Given the description of an element on the screen output the (x, y) to click on. 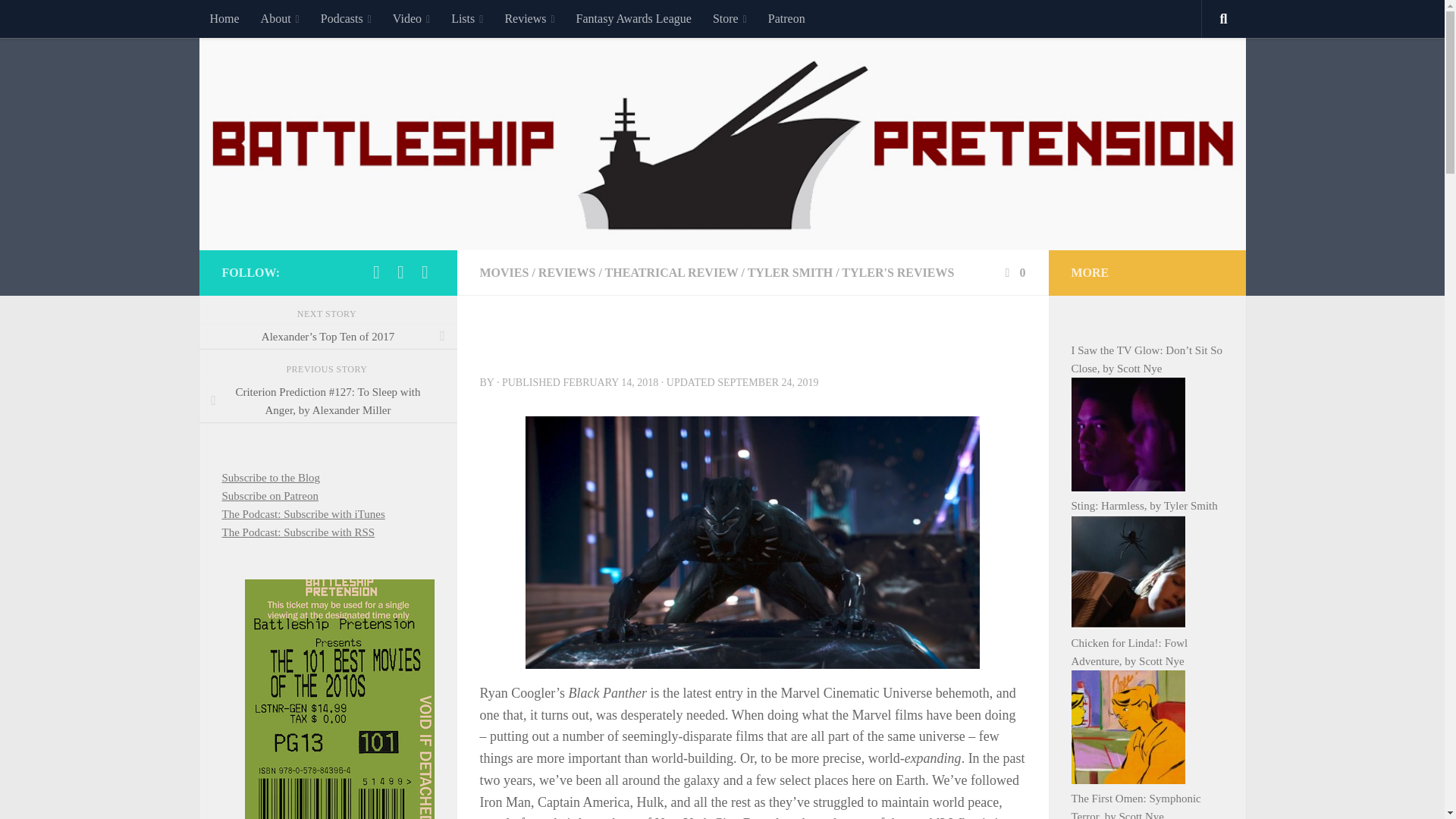
Home (223, 18)
Video (411, 18)
Reviews (528, 18)
Store (729, 18)
Skip to content (59, 20)
Lists (467, 18)
About (280, 18)
Fantasy Awards League (633, 18)
Patreon (786, 18)
Podcasts (345, 18)
